Given the description of an element on the screen output the (x, y) to click on. 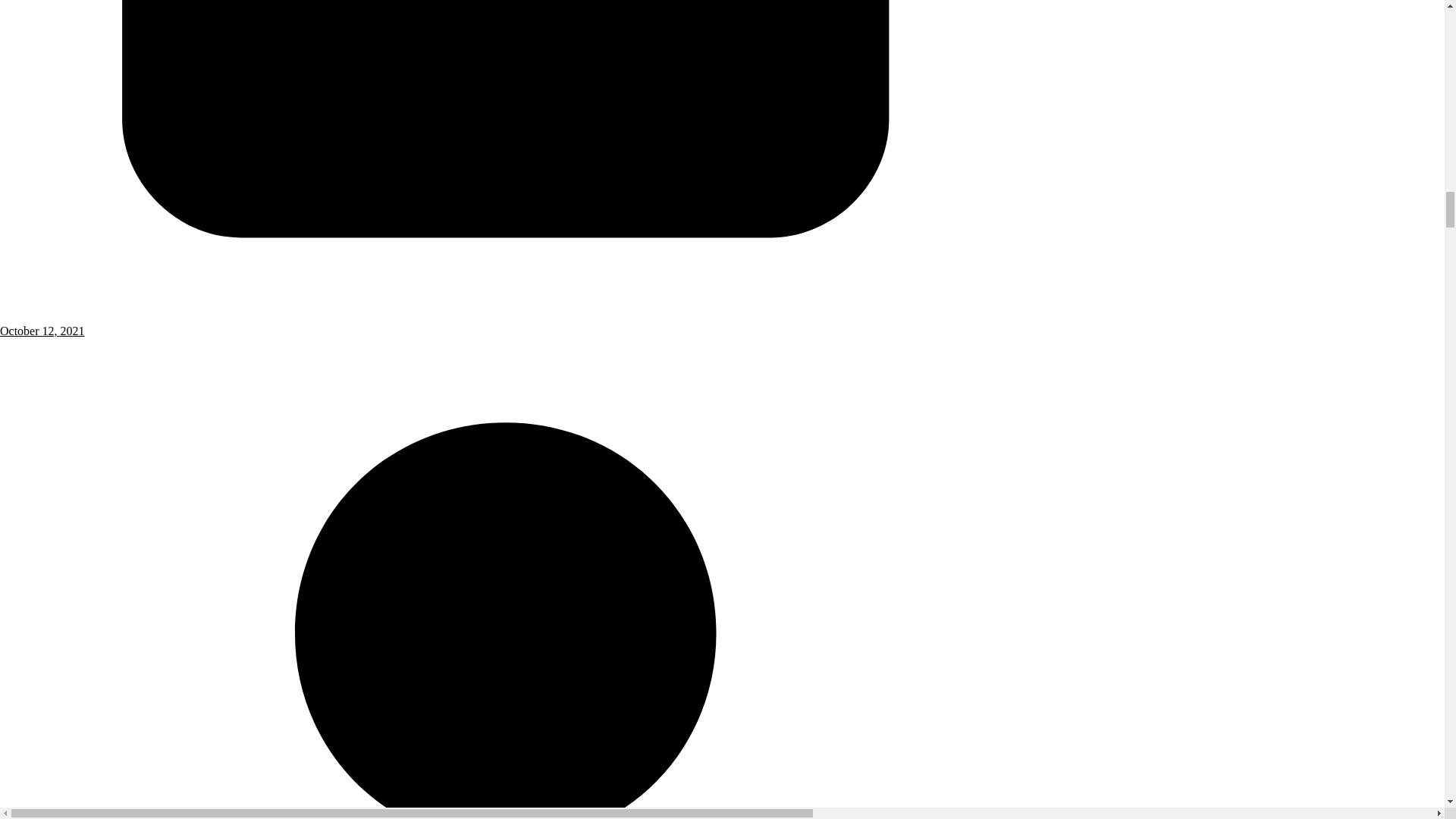
8:24 am (505, 324)
